Given the description of an element on the screen output the (x, y) to click on. 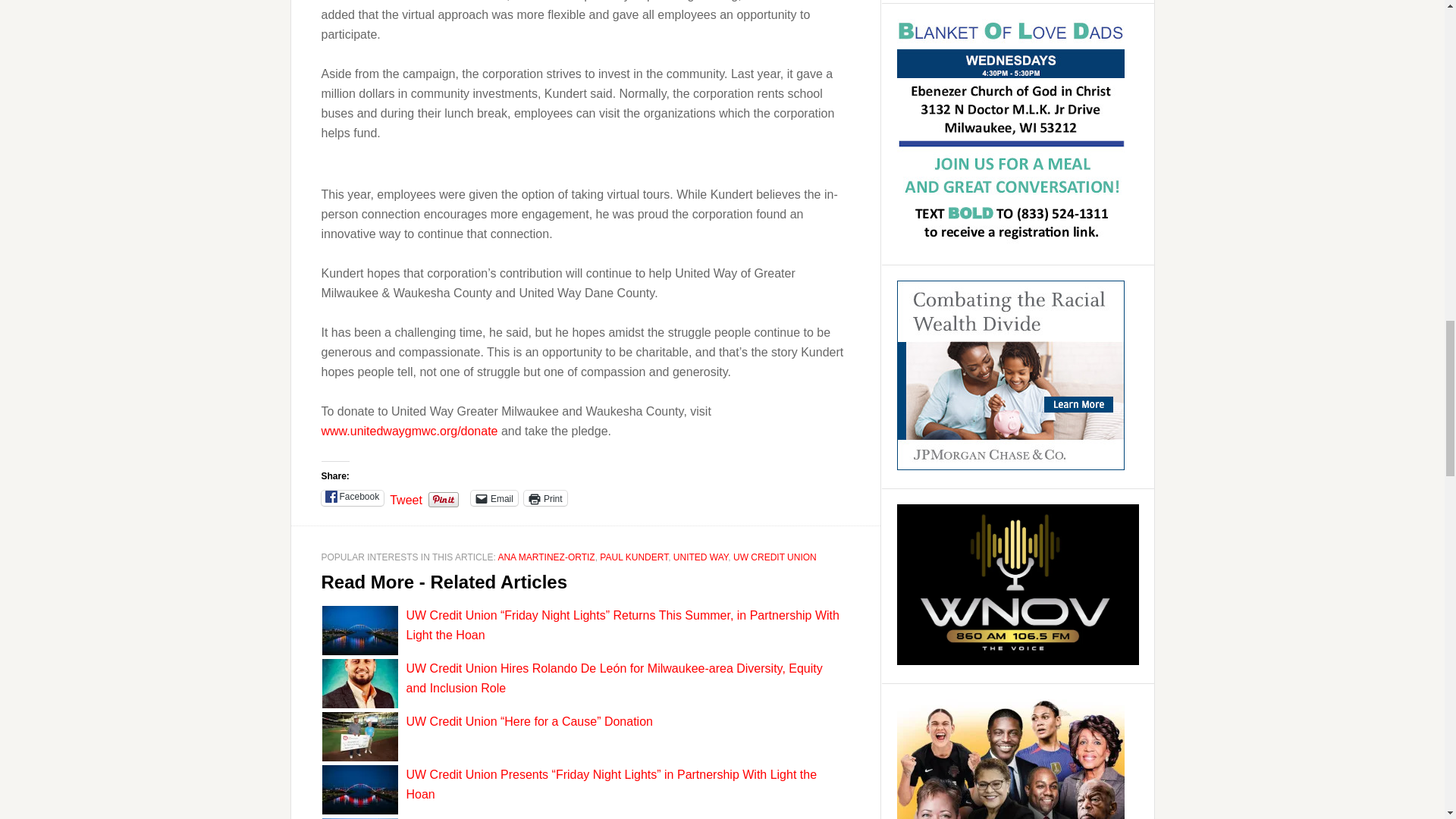
Click to email a link to a friend (494, 498)
UW CREDIT UNION (774, 557)
Email (494, 498)
Click to print (545, 498)
PAUL KUNDERT (633, 557)
UNITED WAY (700, 557)
Click to share on Facebook (352, 498)
Tweet (406, 497)
ANA MARTINEZ-ORTIZ (545, 557)
Facebook (352, 498)
Print (545, 498)
